Given the description of an element on the screen output the (x, y) to click on. 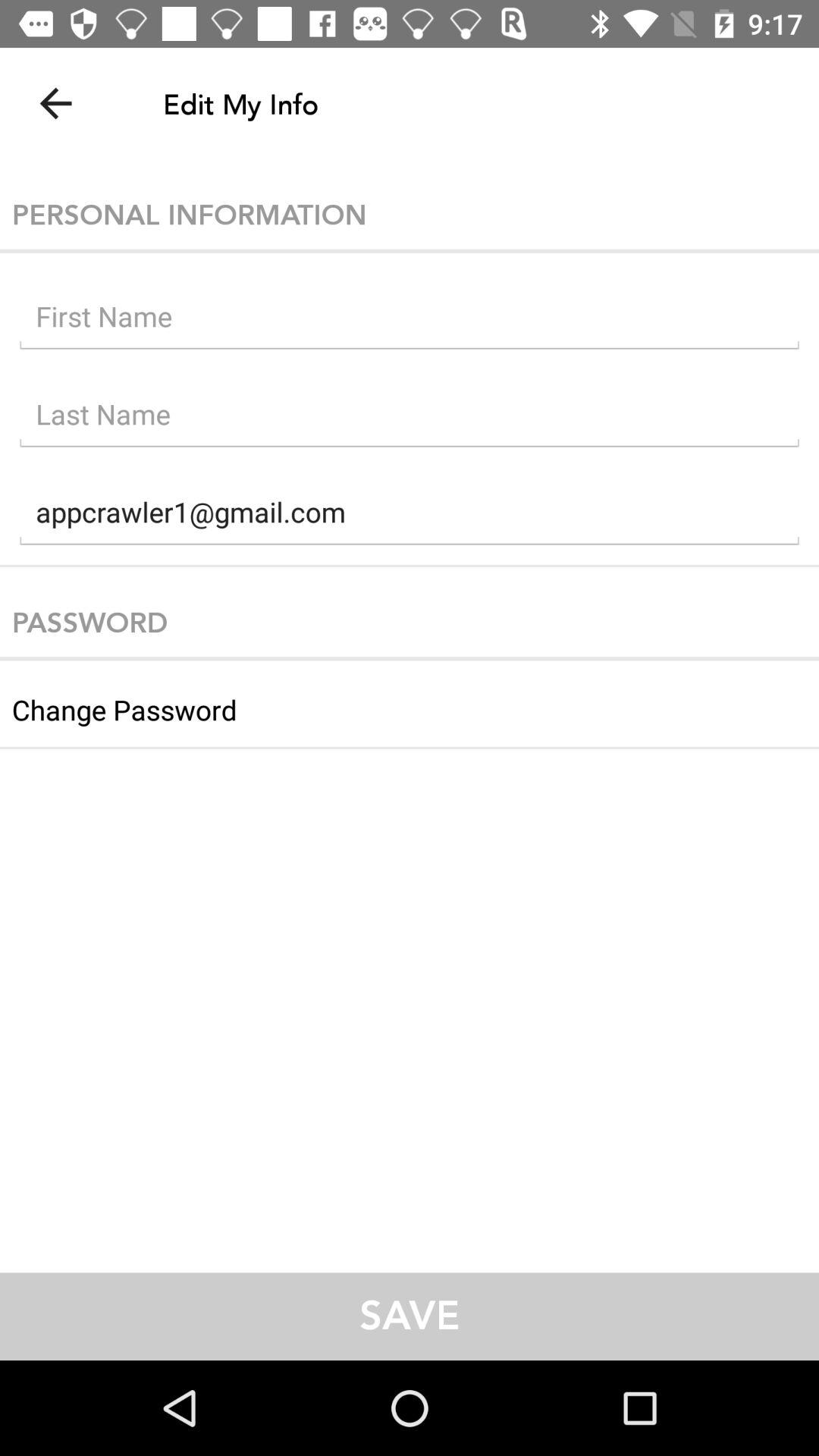
click icon next to the edit my info item (55, 103)
